Given the description of an element on the screen output the (x, y) to click on. 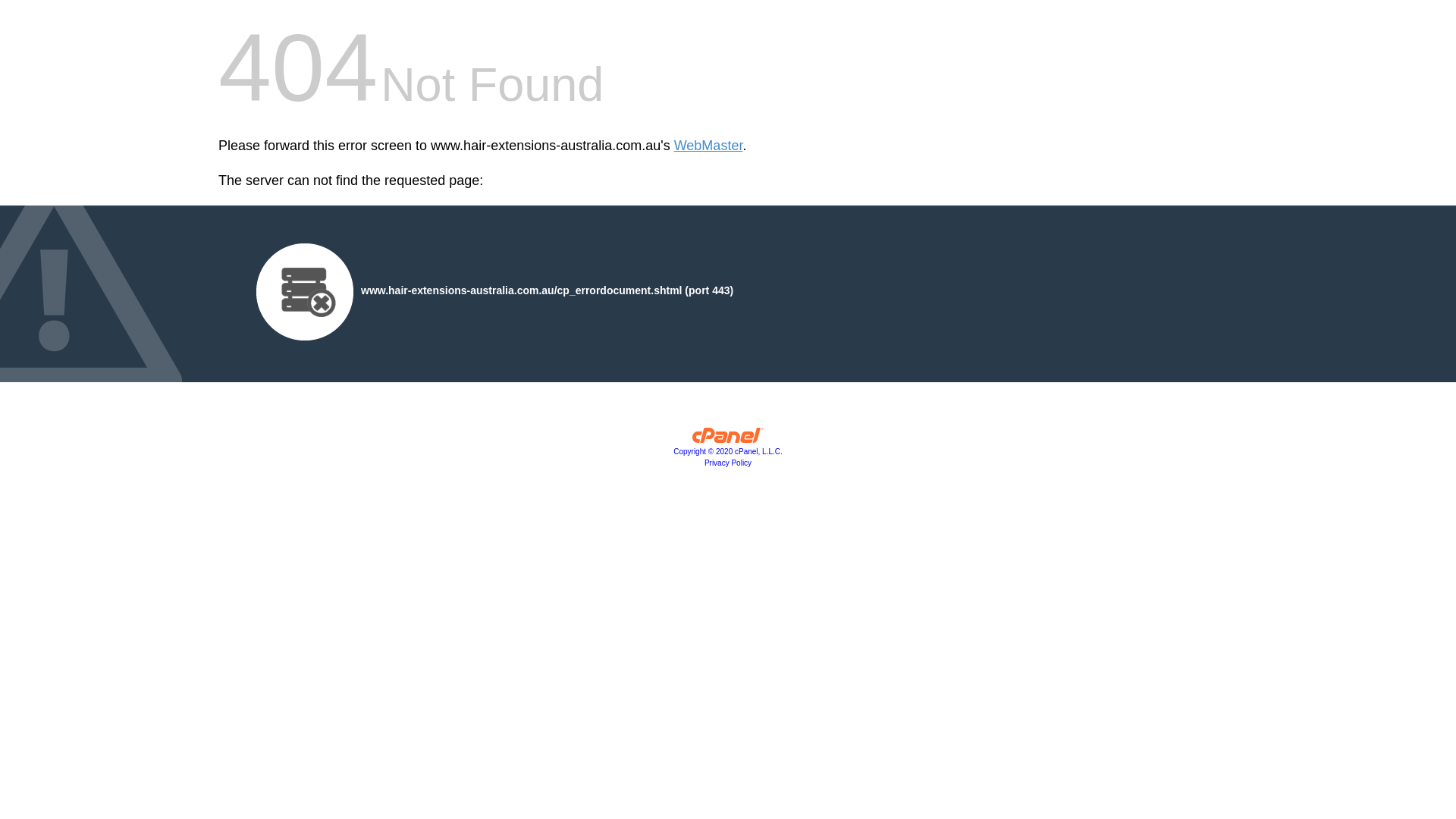
WebMaster Element type: text (708, 145)
Privacy Policy Element type: text (727, 462)
cPanel, Inc. Element type: hover (728, 439)
